Given the description of an element on the screen output the (x, y) to click on. 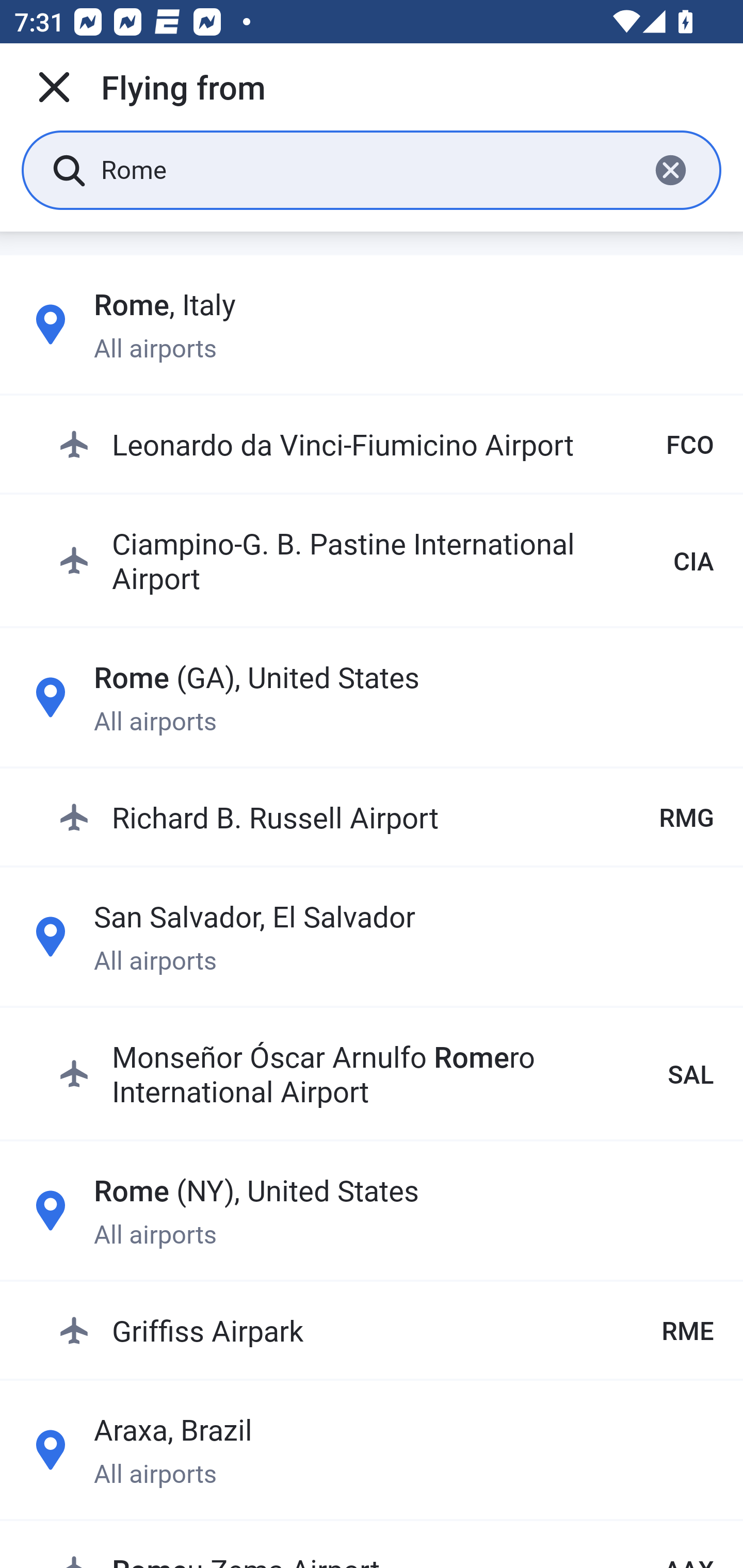
Rome (367, 169)
Rome, Italy All airports (371, 324)
Leonardo da Vinci-Fiumicino Airport FCO (385, 444)
Ciampino-G. B. Pastine International Airport CIA (385, 560)
Rome (GA), United States All airports (371, 696)
Richard B. Russell Airport RMG (385, 816)
San Salvador, El Salvador All airports (371, 936)
Rome (NY), United States All airports (371, 1210)
Griffiss Airpark RME (385, 1330)
Araxa, Brazil All airports (371, 1449)
